Given the description of an element on the screen output the (x, y) to click on. 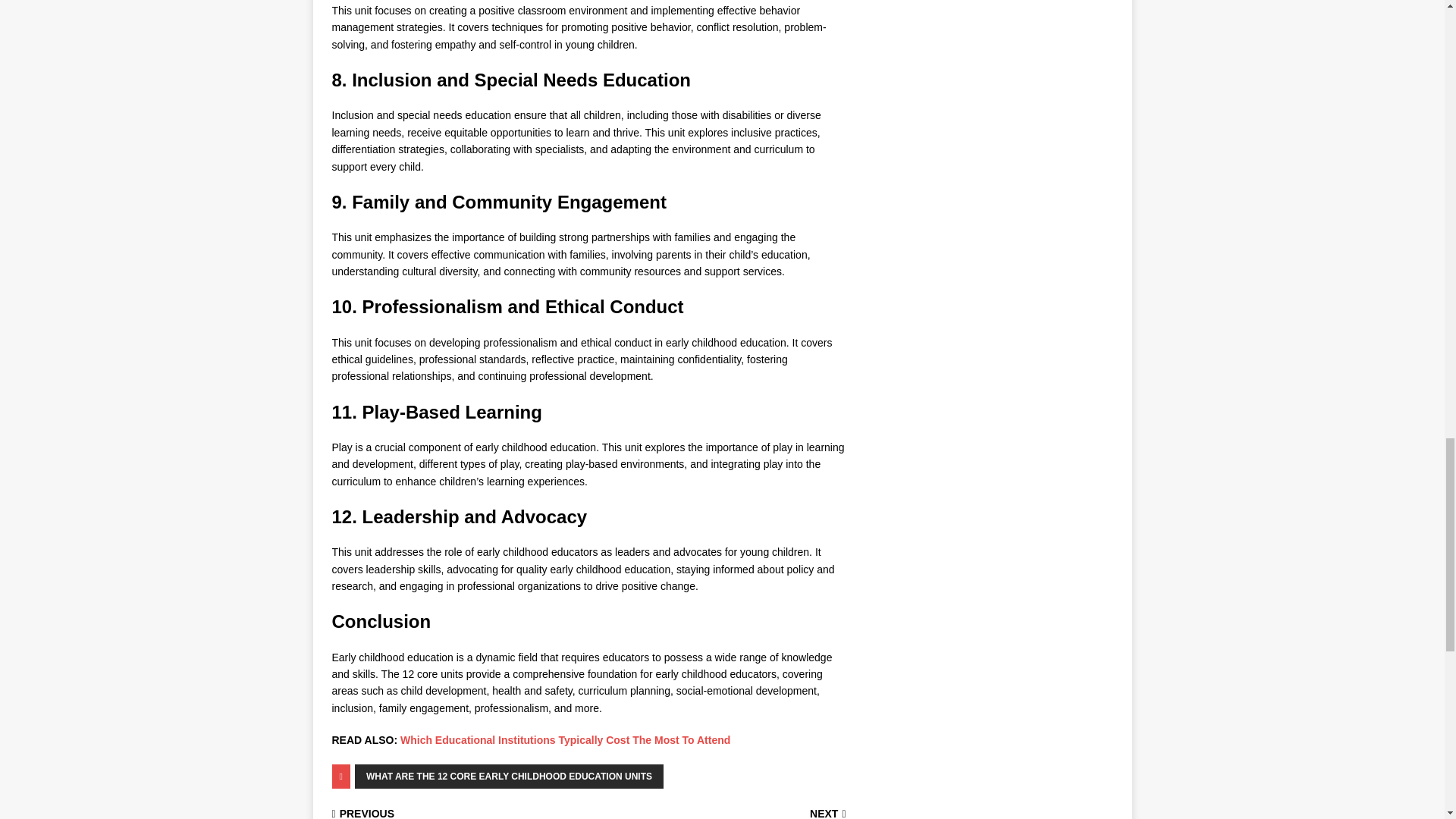
WHAT ARE THE 12 CORE EARLY CHILDHOOD EDUCATION UNITS (509, 776)
